Given the description of an element on the screen output the (x, y) to click on. 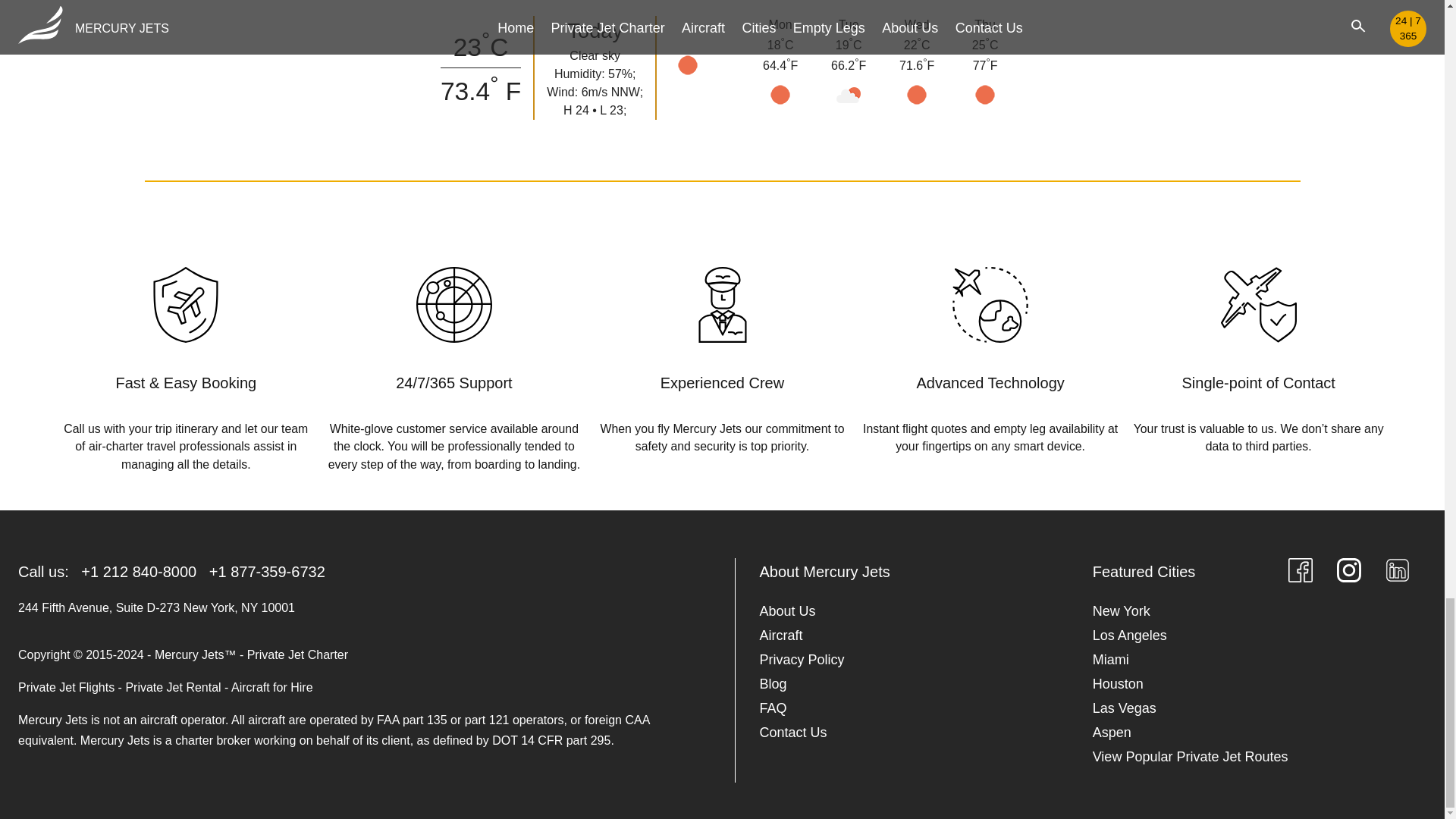
Privacy Policy (802, 659)
About Us (787, 610)
Aircraft (781, 635)
